Given the description of an element on the screen output the (x, y) to click on. 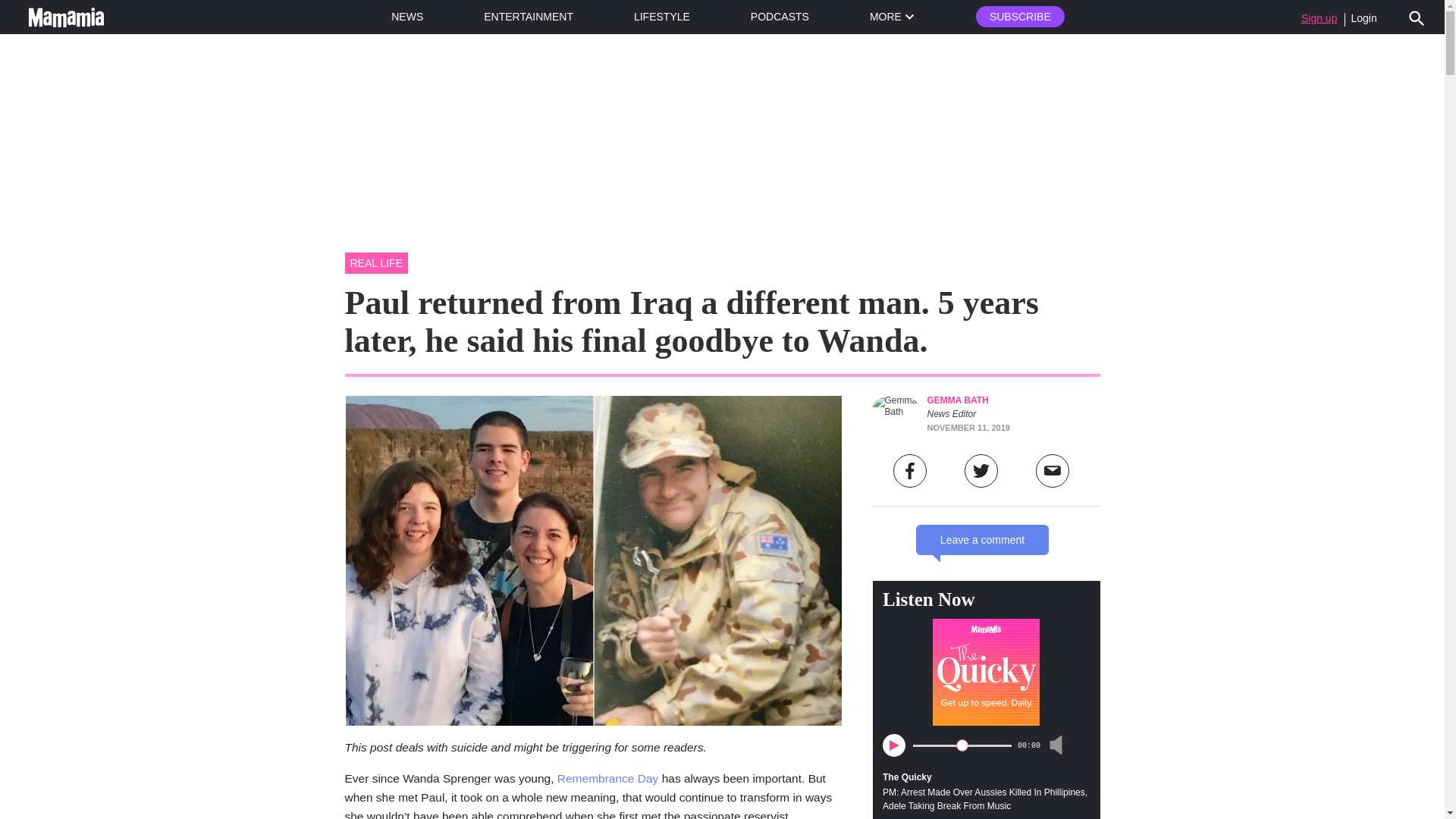
MORE (892, 17)
LIFESTYLE (661, 16)
Search (1416, 17)
PODCASTS (780, 16)
NEWS (407, 16)
113.5 (961, 745)
ENTERTAINMENT (528, 16)
